Given the description of an element on the screen output the (x, y) to click on. 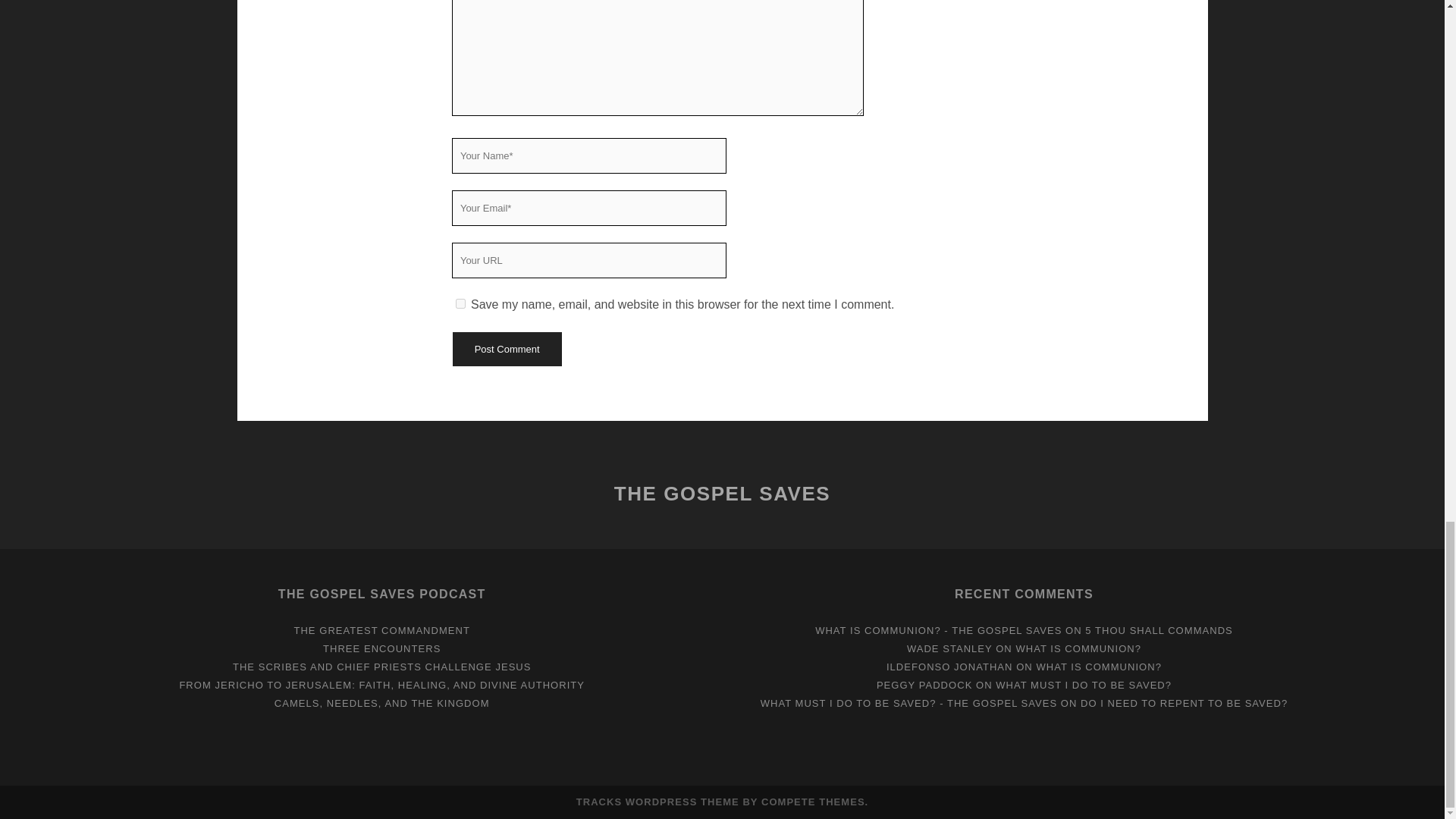
Post Comment (505, 349)
THE GOSPEL SAVES (722, 493)
Post Comment (505, 349)
yes (459, 303)
